Given the description of an element on the screen output the (x, y) to click on. 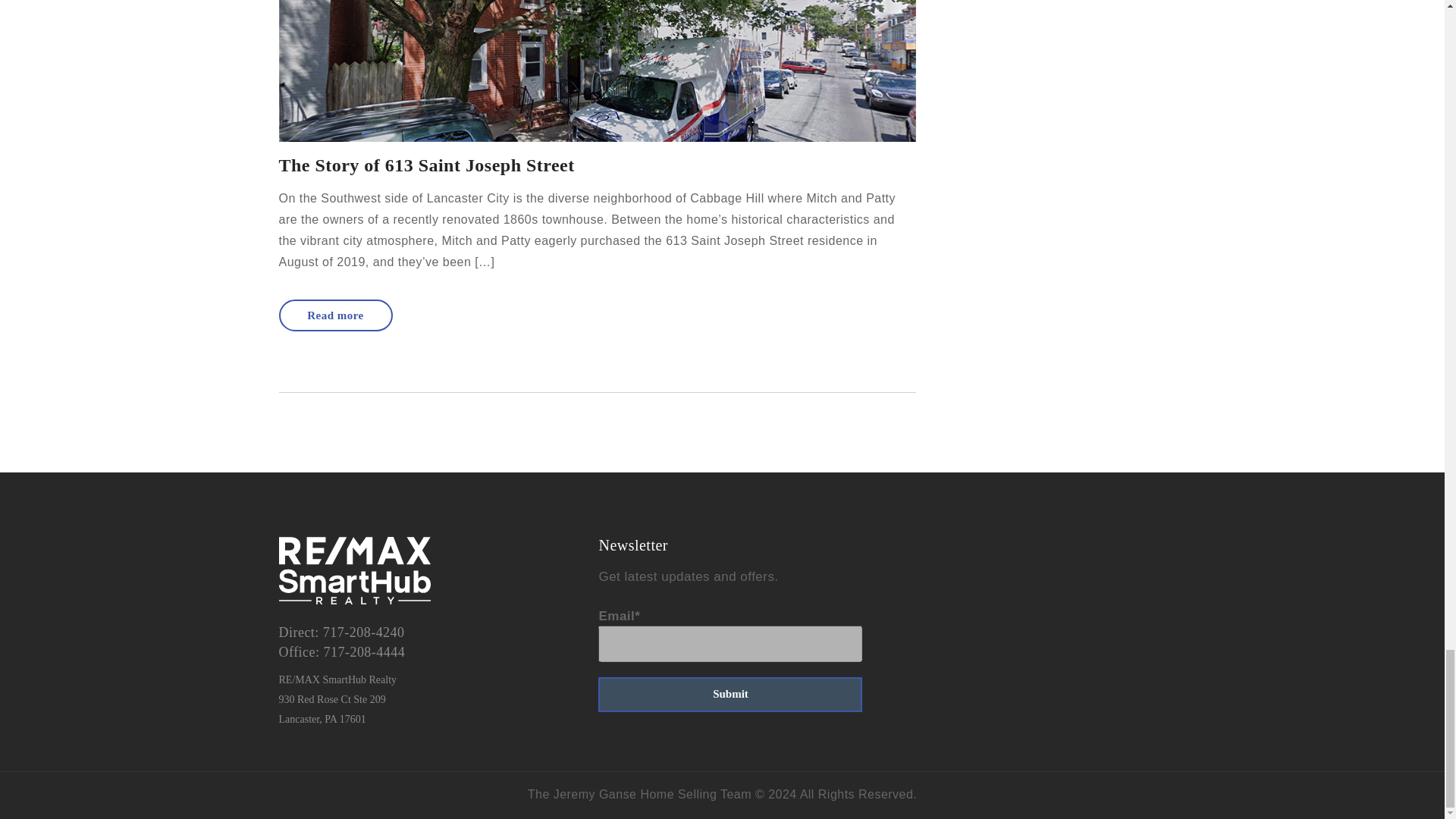
Submit (729, 694)
